Given the description of an element on the screen output the (x, y) to click on. 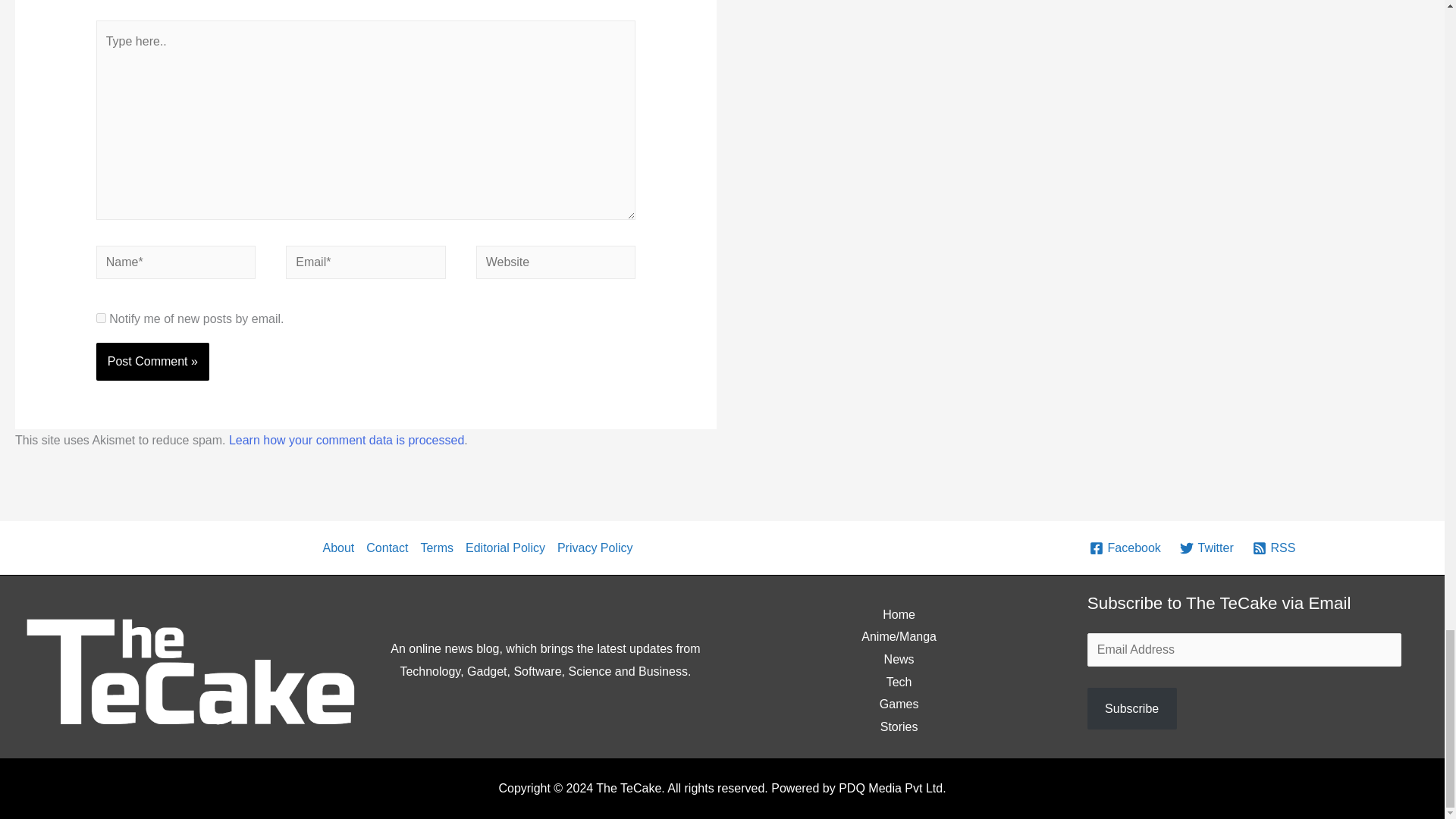
subscribe (101, 317)
